Given the description of an element on the screen output the (x, y) to click on. 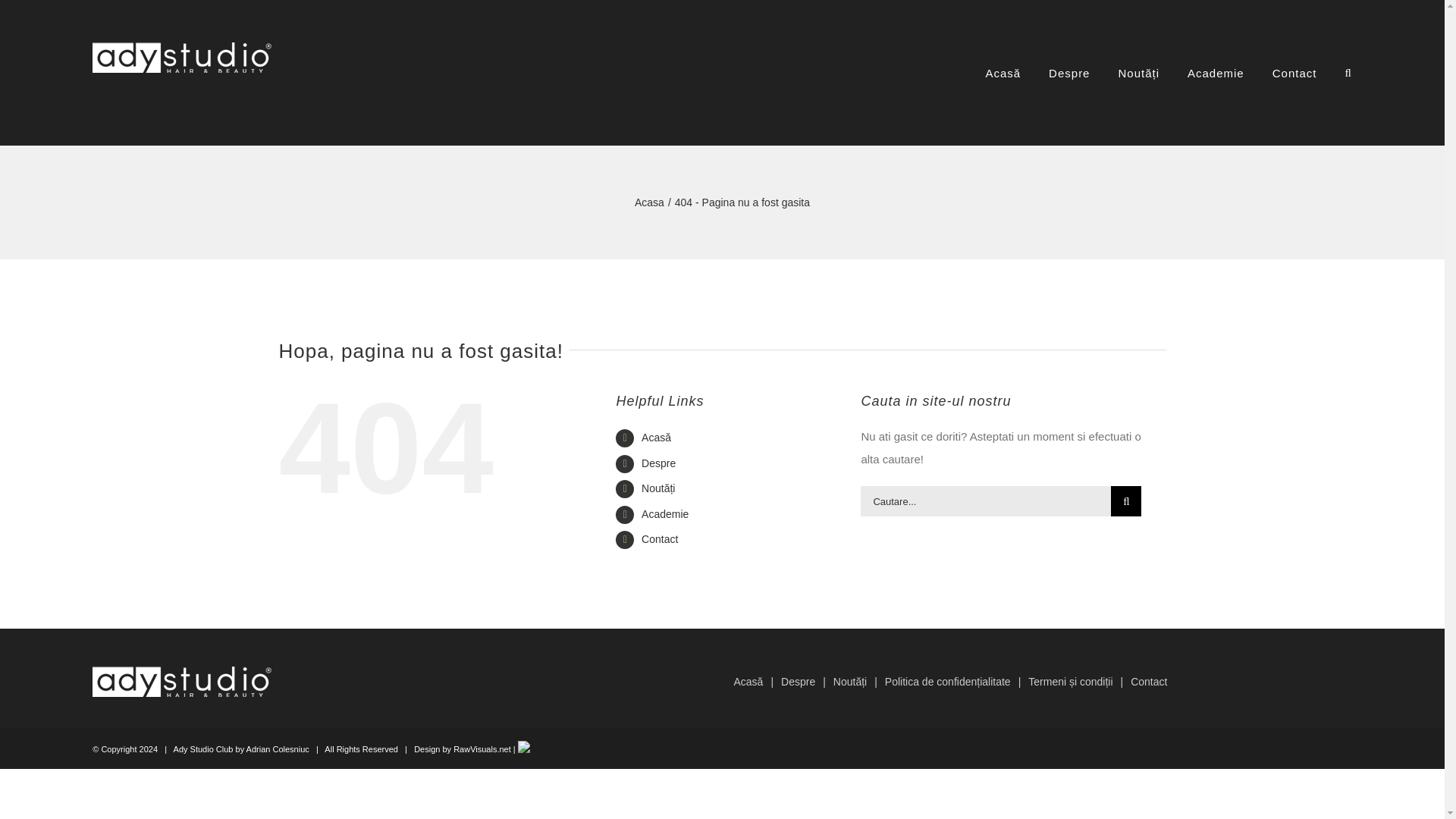
RawVisuals.net (482, 748)
Acasa (648, 202)
Academie (665, 513)
Despre (806, 681)
Contact (1149, 681)
Contact (660, 539)
Despre (658, 463)
Adrian Colesniuc (277, 748)
